Given the description of an element on the screen output the (x, y) to click on. 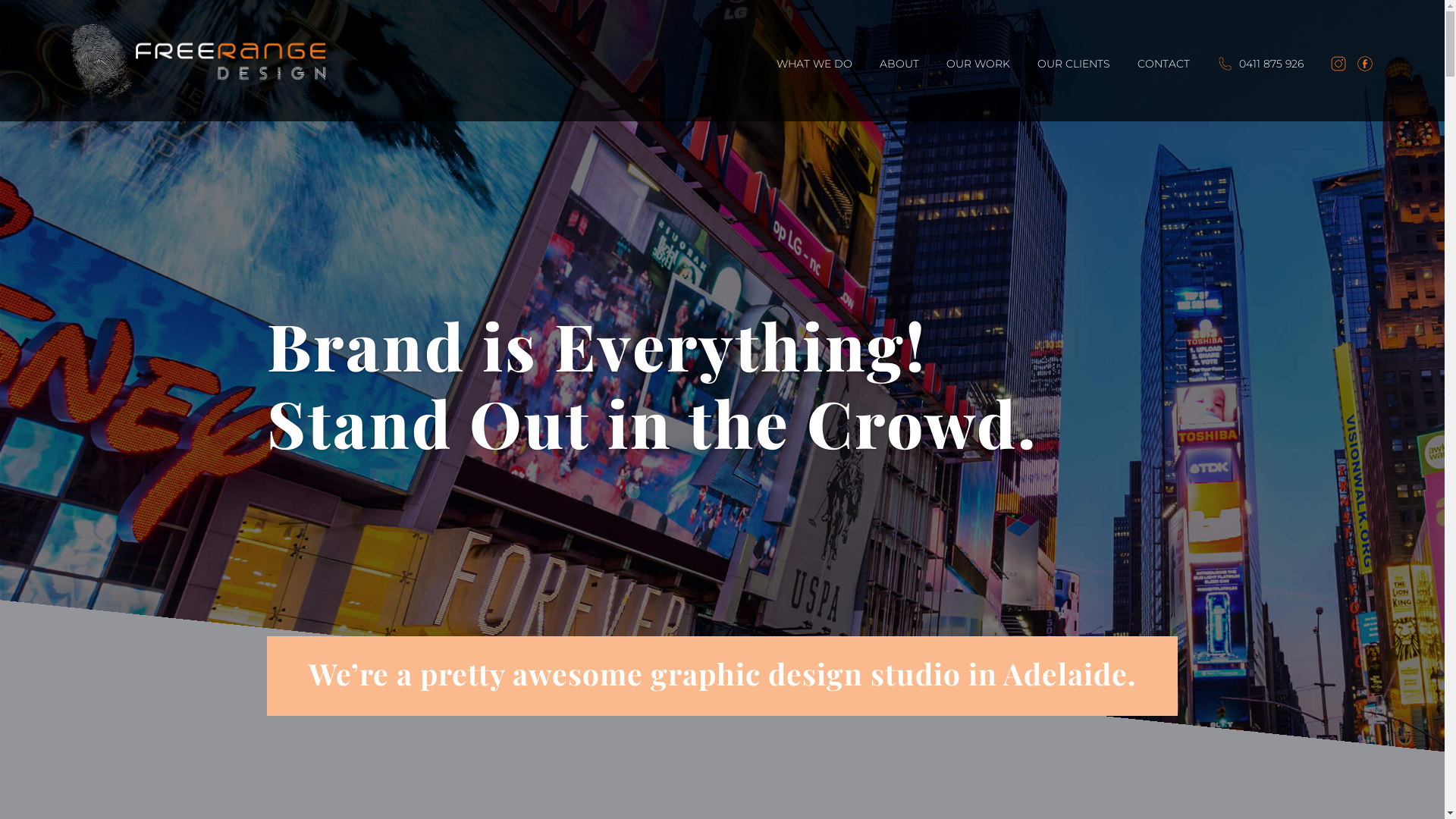
ABOUT Element type: text (899, 89)
OUR WORK Element type: text (978, 89)
CONTACT Element type: text (1163, 89)
0411 875 926 Element type: text (1260, 86)
OUR CLIENTS Element type: text (1073, 89)
WHAT WE DO Element type: text (814, 89)
